Given the description of an element on the screen output the (x, y) to click on. 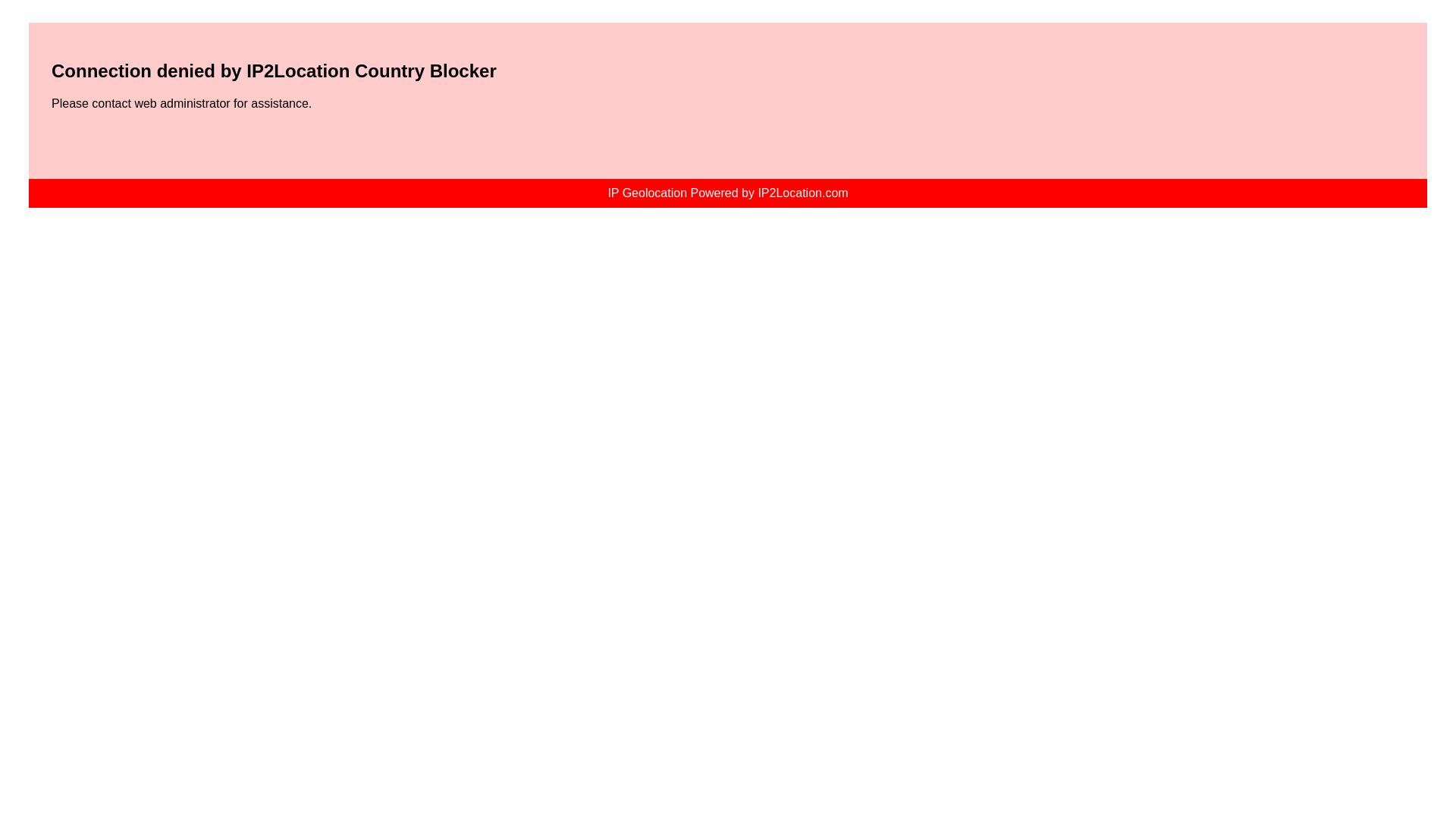
IP Geolocation Powered by IP2Location.com (727, 192)
